Given the description of an element on the screen output the (x, y) to click on. 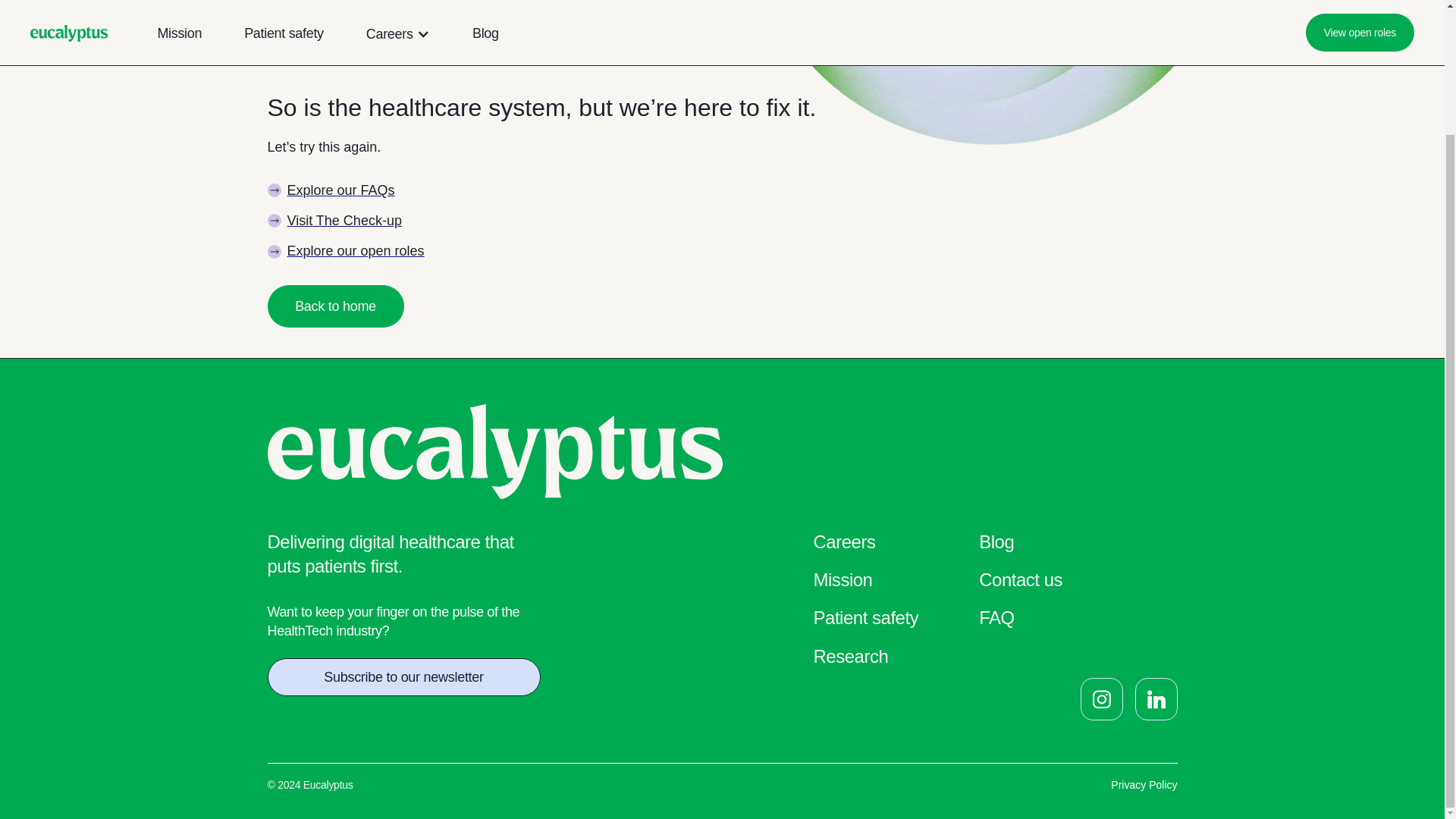
Blog (995, 542)
Mission (842, 580)
Patient safety (865, 618)
Research (850, 657)
Subscribe to our newsletter (403, 677)
Explore our FAQs (330, 189)
Back to home (334, 306)
Explore our open roles (344, 250)
Contact us (1020, 580)
FAQ (996, 618)
